Given the description of an element on the screen output the (x, y) to click on. 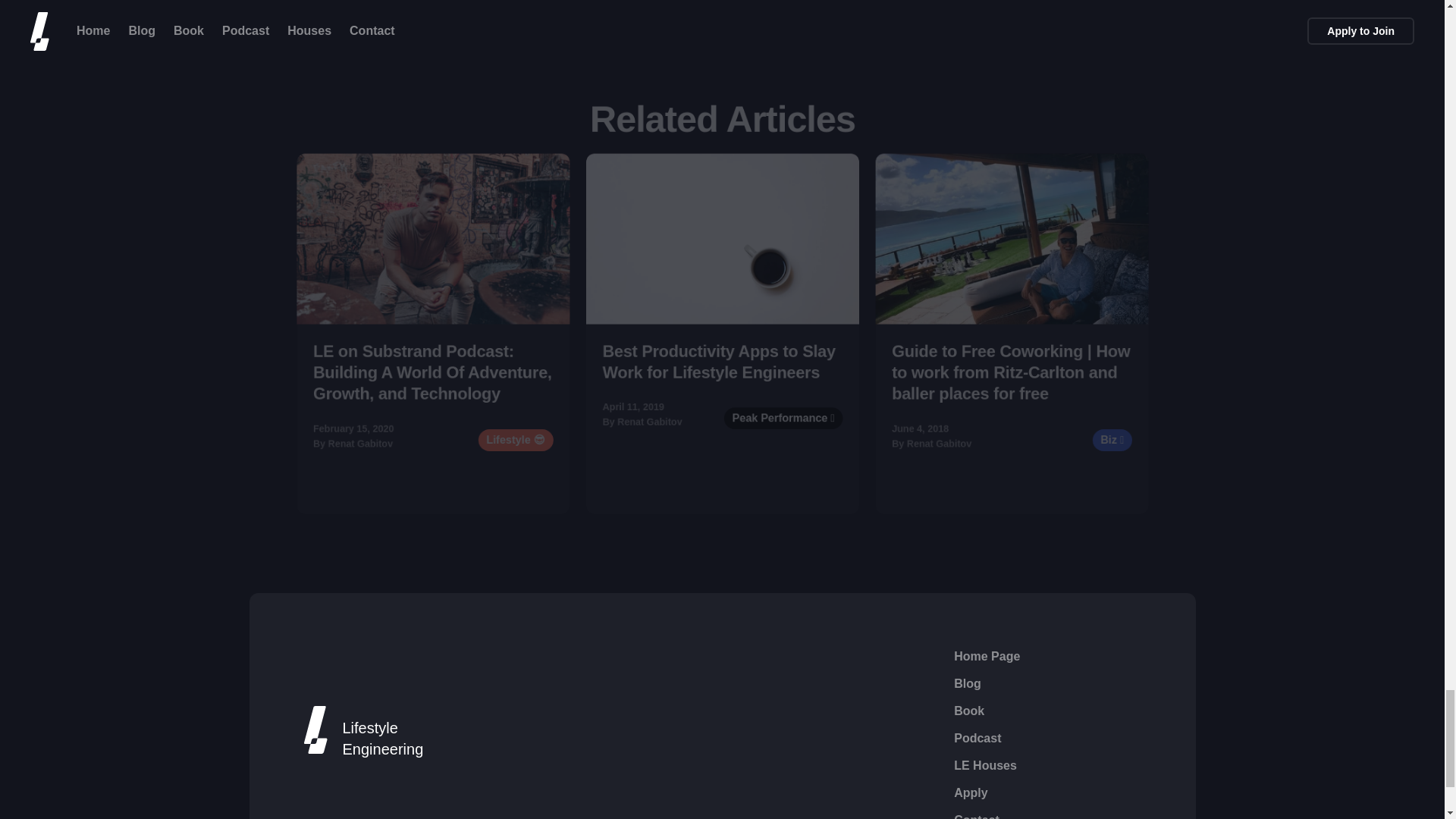
LE Houses (984, 765)
Podcast (977, 738)
Blog (967, 683)
Best Productivity Apps to Slay Work for Lifestyle Engineers (735, 372)
Home Page (986, 656)
Book (968, 710)
Apply (970, 792)
Contact (975, 815)
